Given the description of an element on the screen output the (x, y) to click on. 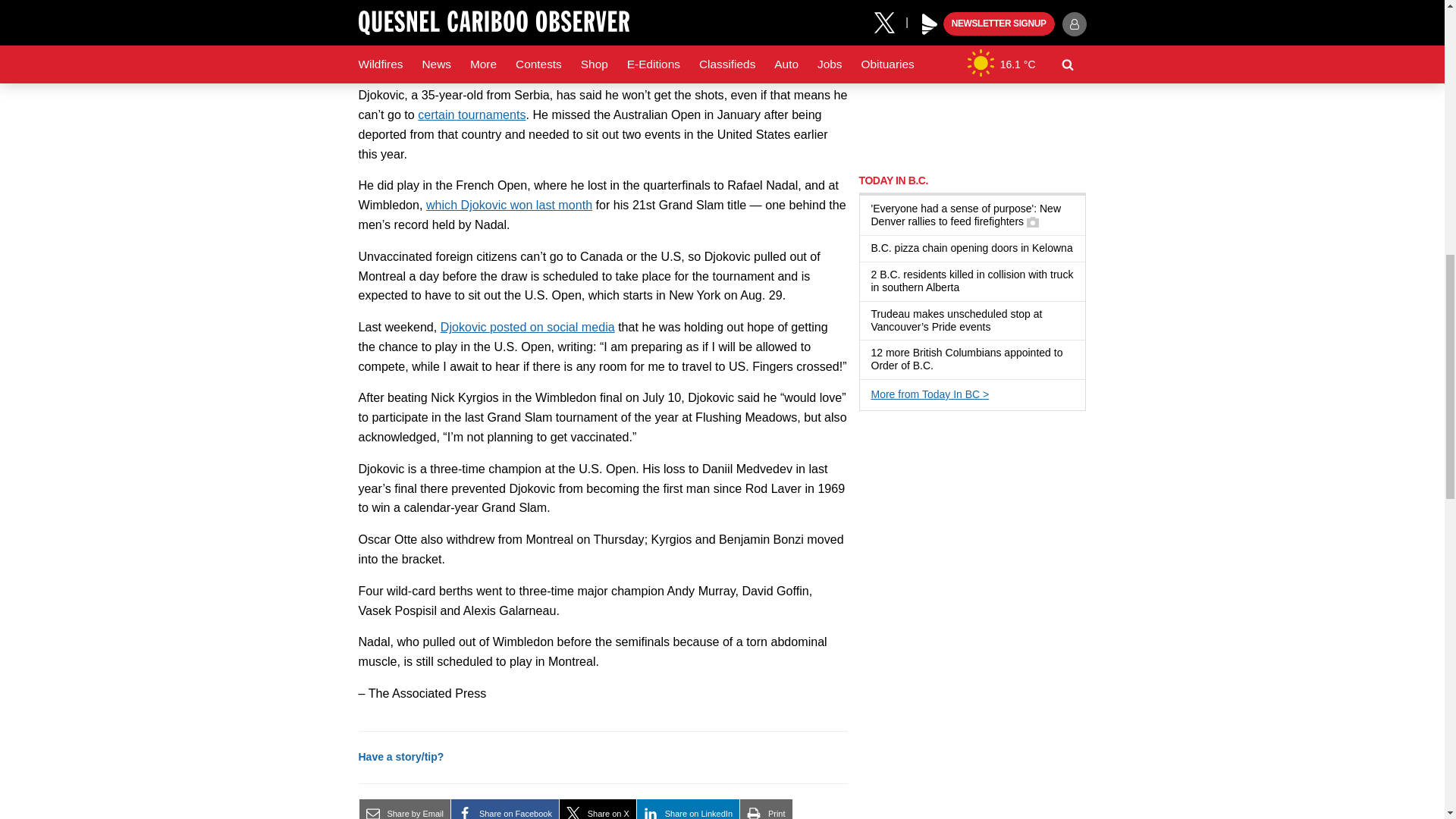
Has a gallery (1032, 222)
